Given the description of an element on the screen output the (x, y) to click on. 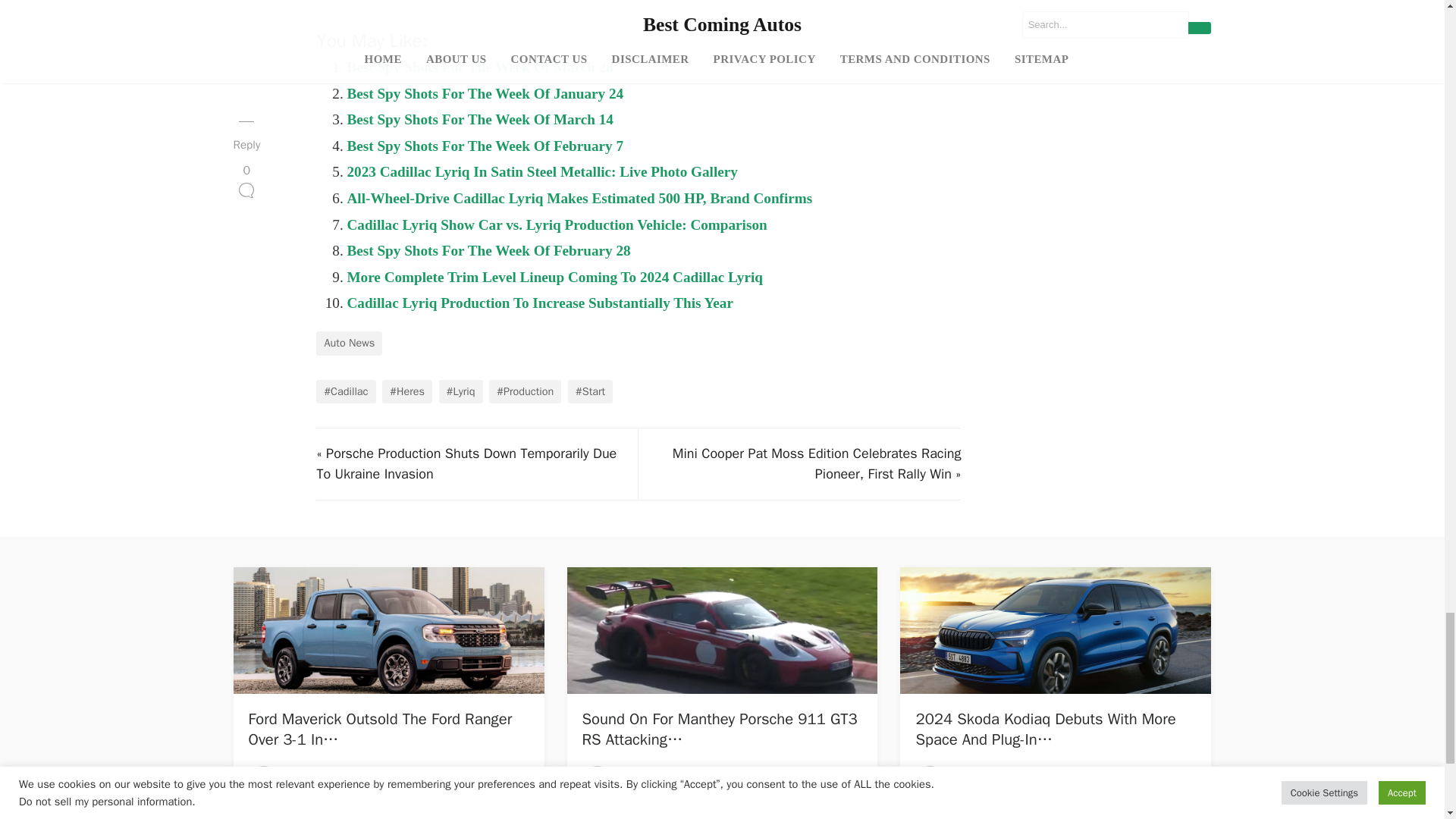
Best Spy Shots For The Week Of March 14 (479, 119)
Best Spy Shots For The Week Of March 28 (479, 66)
Best Spy Shots For The Week Of March 28 (479, 66)
Best Spy Shots For The Week Of February 28 (488, 250)
Auto News (348, 343)
Best Spy Shots For The Week Of February 7 (484, 145)
Best Spy Shots For The Week Of January 24 (484, 93)
